Given the description of an element on the screen output the (x, y) to click on. 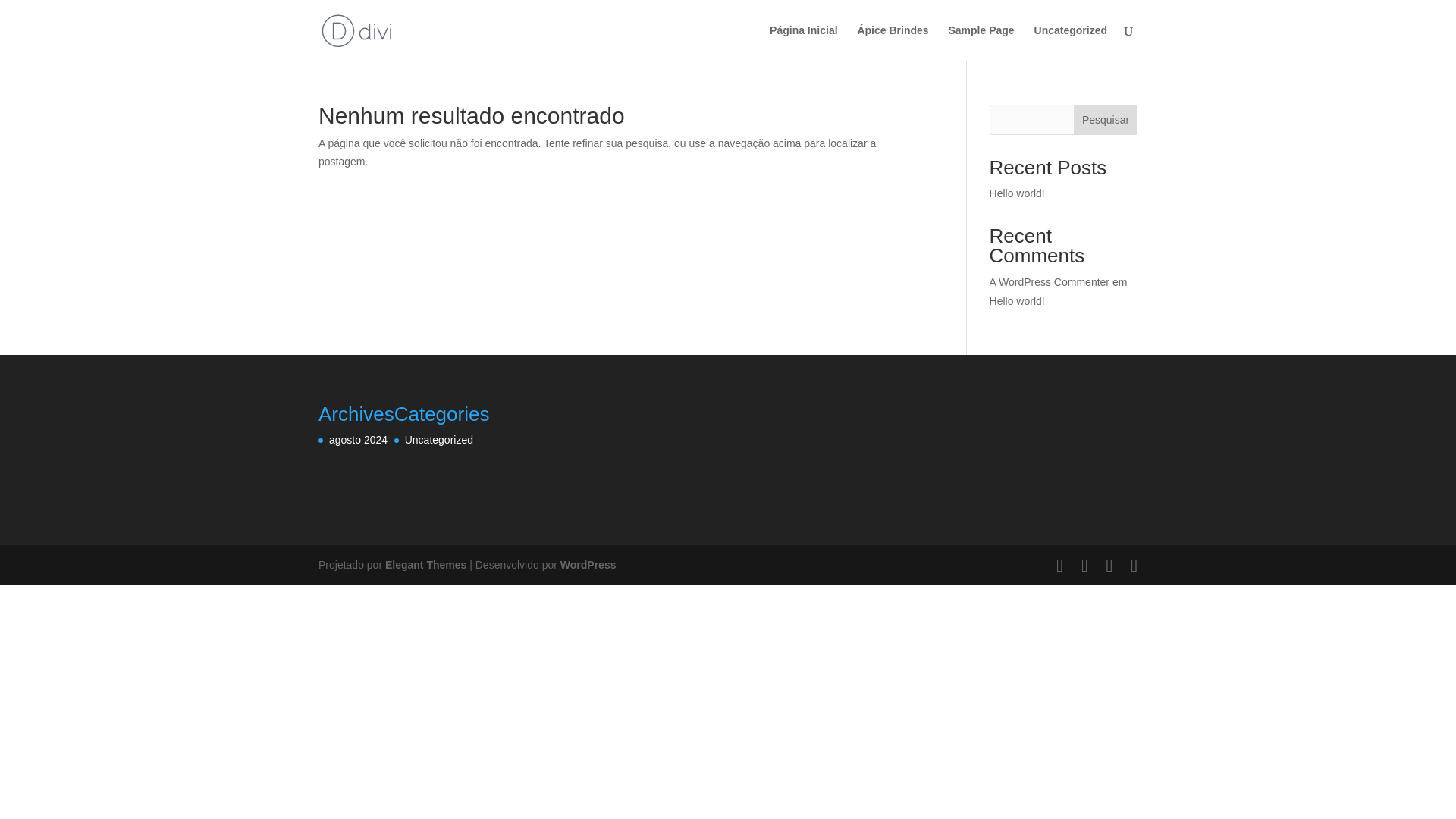
Hello world! (1017, 300)
WordPress (587, 564)
Premium WordPress Themes (425, 564)
Uncategorized (1069, 42)
agosto 2024 (358, 439)
Elegant Themes (425, 564)
Uncategorized (438, 439)
Pesquisar (1105, 119)
A WordPress Commenter (1049, 282)
Hello world! (1017, 193)
